Given the description of an element on the screen output the (x, y) to click on. 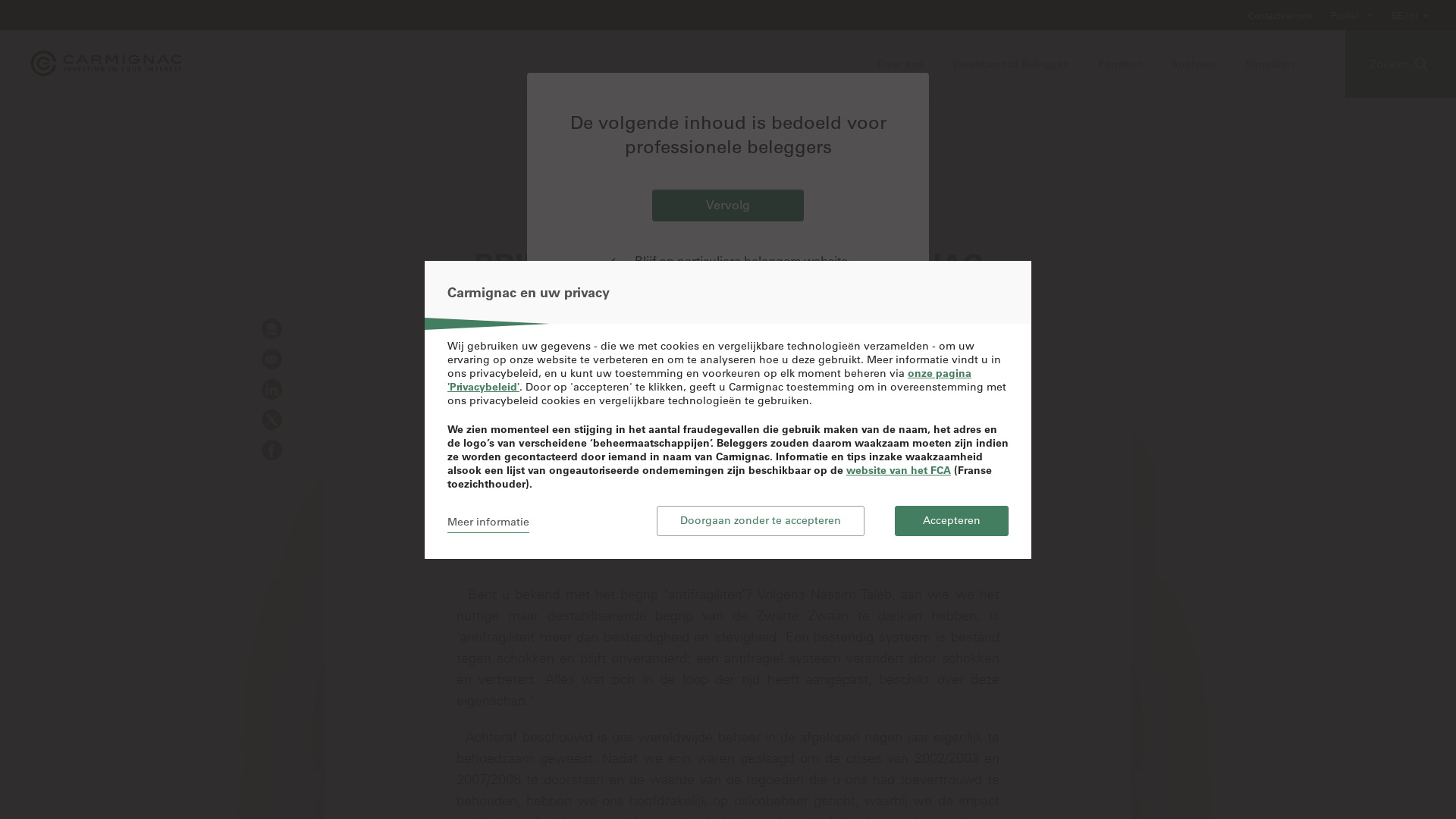
onze pagina 'Privacybeleid' Element type: text (709, 378)
Blijf op particuliere beleggers website Element type: text (727, 260)
Profiel : Element type: text (1346, 14)
Accepteren Element type: text (951, 520)
PDF Element type: text (270, 328)
Analyses Element type: text (1193, 63)
Fondsen Element type: text (1120, 63)
Contacteer ons Element type: text (1280, 15)
Over ons Element type: text (900, 63)
LinkedIn Element type: text (270, 389)
Vervolg Element type: text (727, 205)
Verantwoord Beleggen Element type: text (1010, 63)
Facebook Element type: text (270, 449)
Doorgaan zonder te accepteren Element type: text (760, 520)
Meer informatie Element type: text (488, 519)
[Management Team] [Author] Carmignac Edouard Element type: hover (727, 196)
Twitter Element type: text (270, 419)
Email Element type: text (270, 358)
Simulator Element type: text (1270, 63)
website van het FCA Element type: text (898, 469)
BE / nl Element type: text (1405, 15)
